Given the description of an element on the screen output the (x, y) to click on. 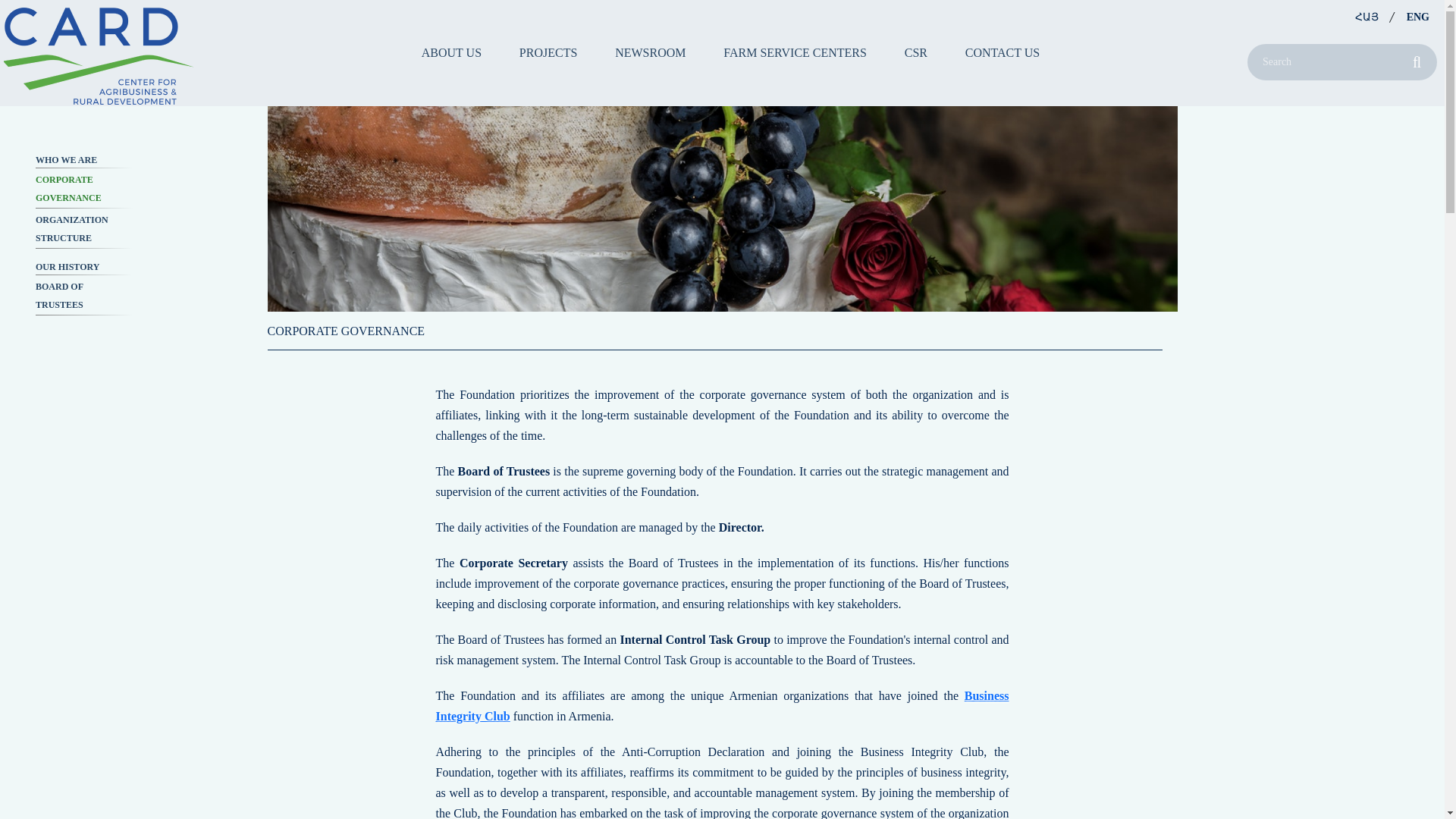
ORGANIZATION STRUCTURE (83, 228)
ABOUT US (451, 51)
BOARD OF TRUSTEES (83, 295)
CORPORATE GOVERNANCE (83, 187)
FARM SERVICE CENTERS (794, 51)
NEWSROOM (649, 51)
CONTACT US (1002, 51)
CSR (915, 51)
WHO WE ARE (83, 158)
OUR HISTORY (83, 266)
ENG (1417, 16)
PROJECTS (547, 51)
Business Integrity Club (722, 705)
